Given the description of an element on the screen output the (x, y) to click on. 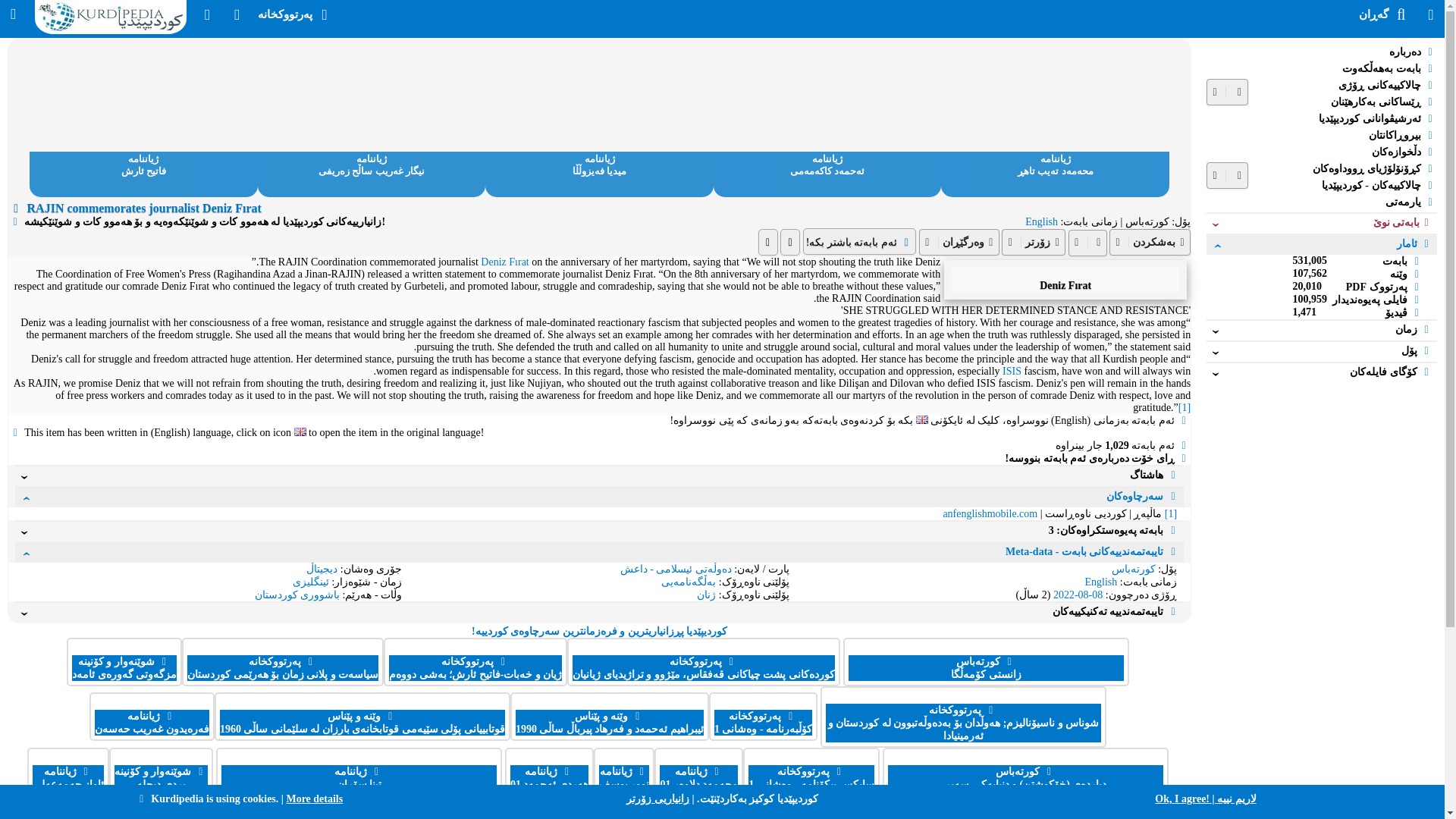
Home (110, 33)
Library (293, 14)
Contact (207, 14)
New Item (237, 14)
